Given the description of an element on the screen output the (x, y) to click on. 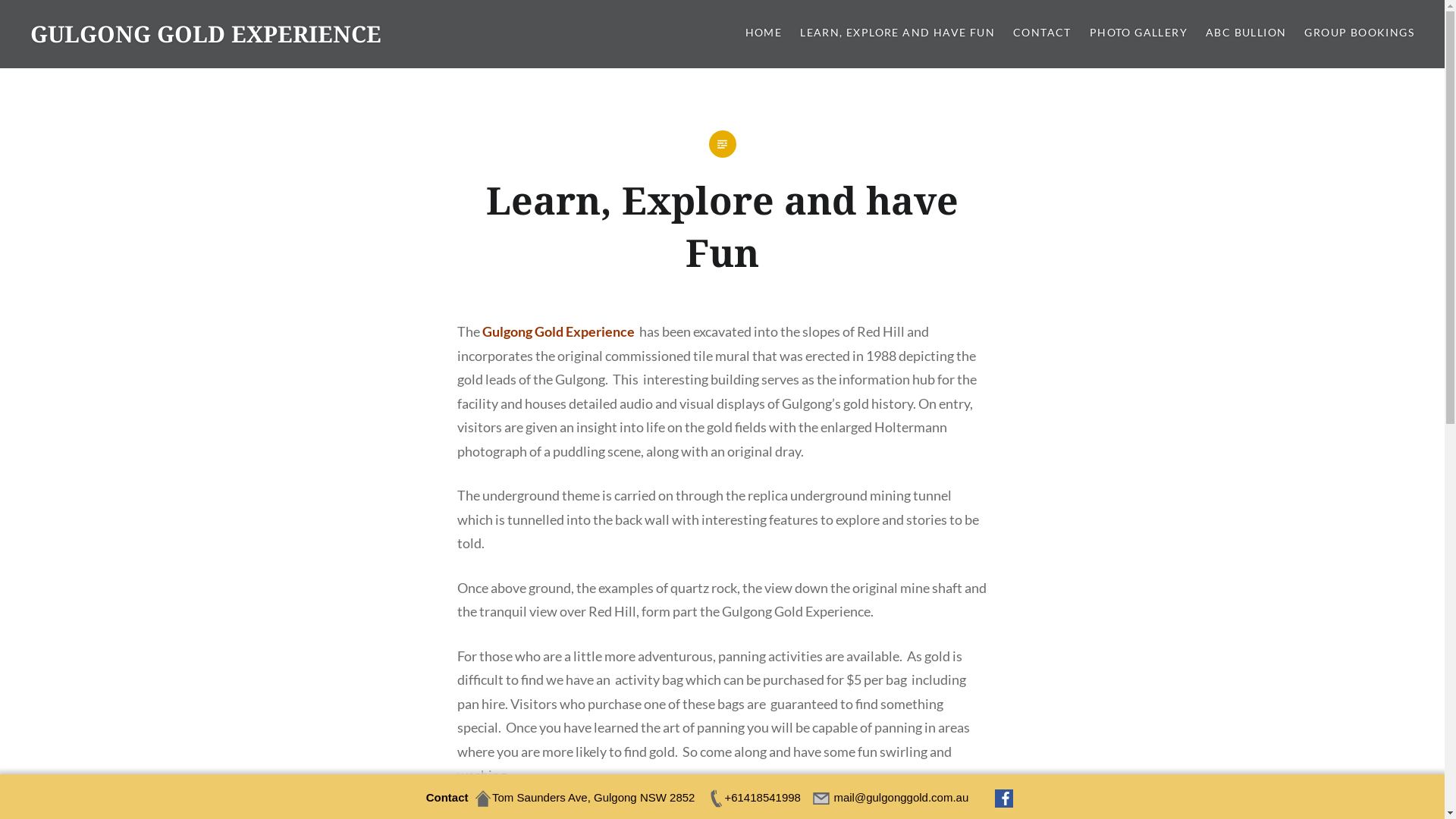
GROUP BOOKINGS Element type: text (1359, 32)
GULGONG GOLD EXPERIENCE Element type: text (205, 33)
CONTACT Element type: text (1042, 32)
Tom Saunders Ave, Gulgong NSW 2852 Element type: text (583, 796)
LEARN, EXPLORE AND HAVE FUN Element type: text (897, 32)
Contact Element type: text (447, 796)
+61418541998 Element type: text (753, 796)
mail@gulgonggold.com.au Element type: text (892, 796)
PHOTO GALLERY Element type: text (1138, 32)
ABC BULLION Element type: text (1245, 32)
HOME Element type: text (763, 32)
